Given the description of an element on the screen output the (x, y) to click on. 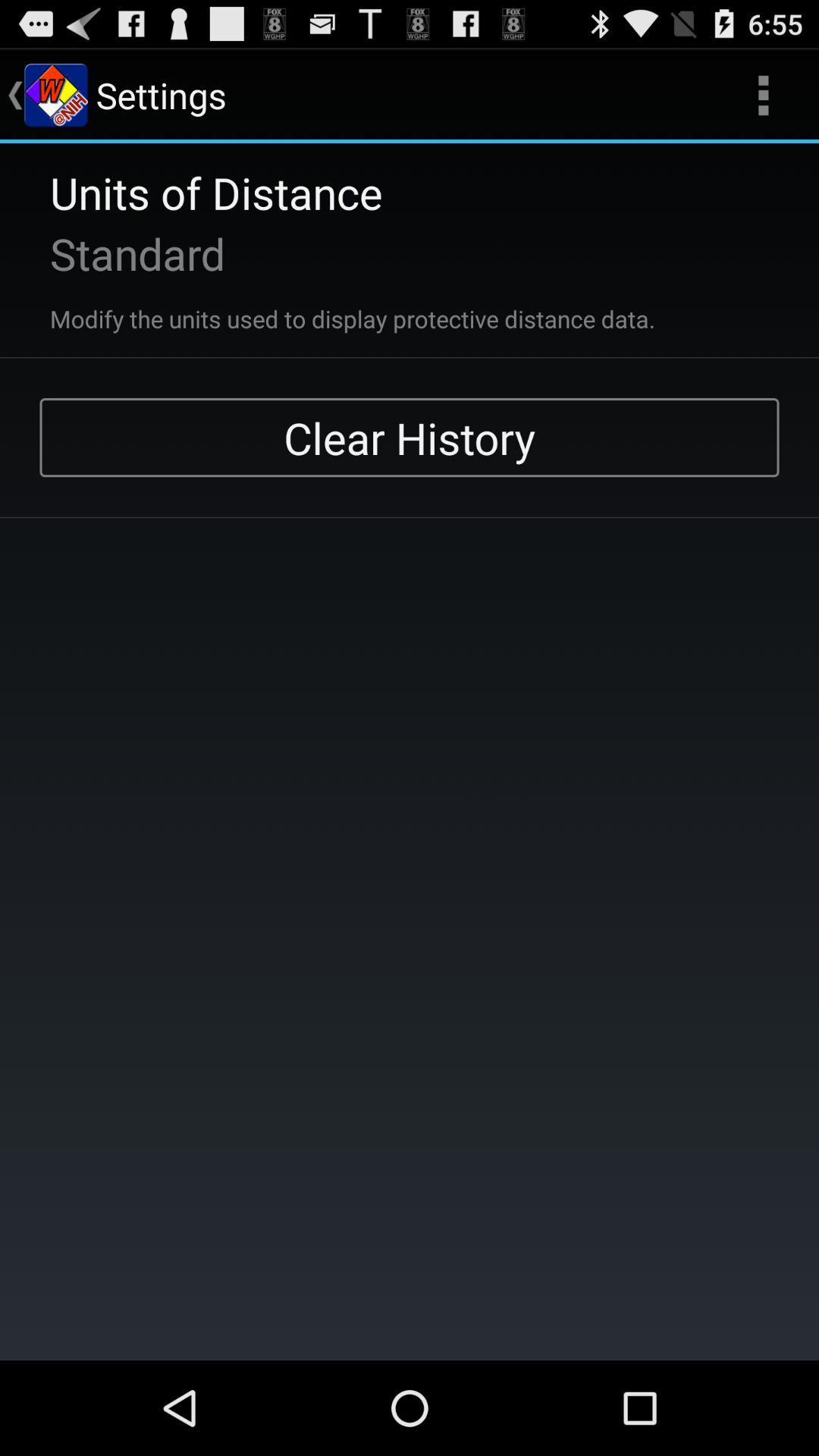
turn on the app to the right of the settings (763, 95)
